Given the description of an element on the screen output the (x, y) to click on. 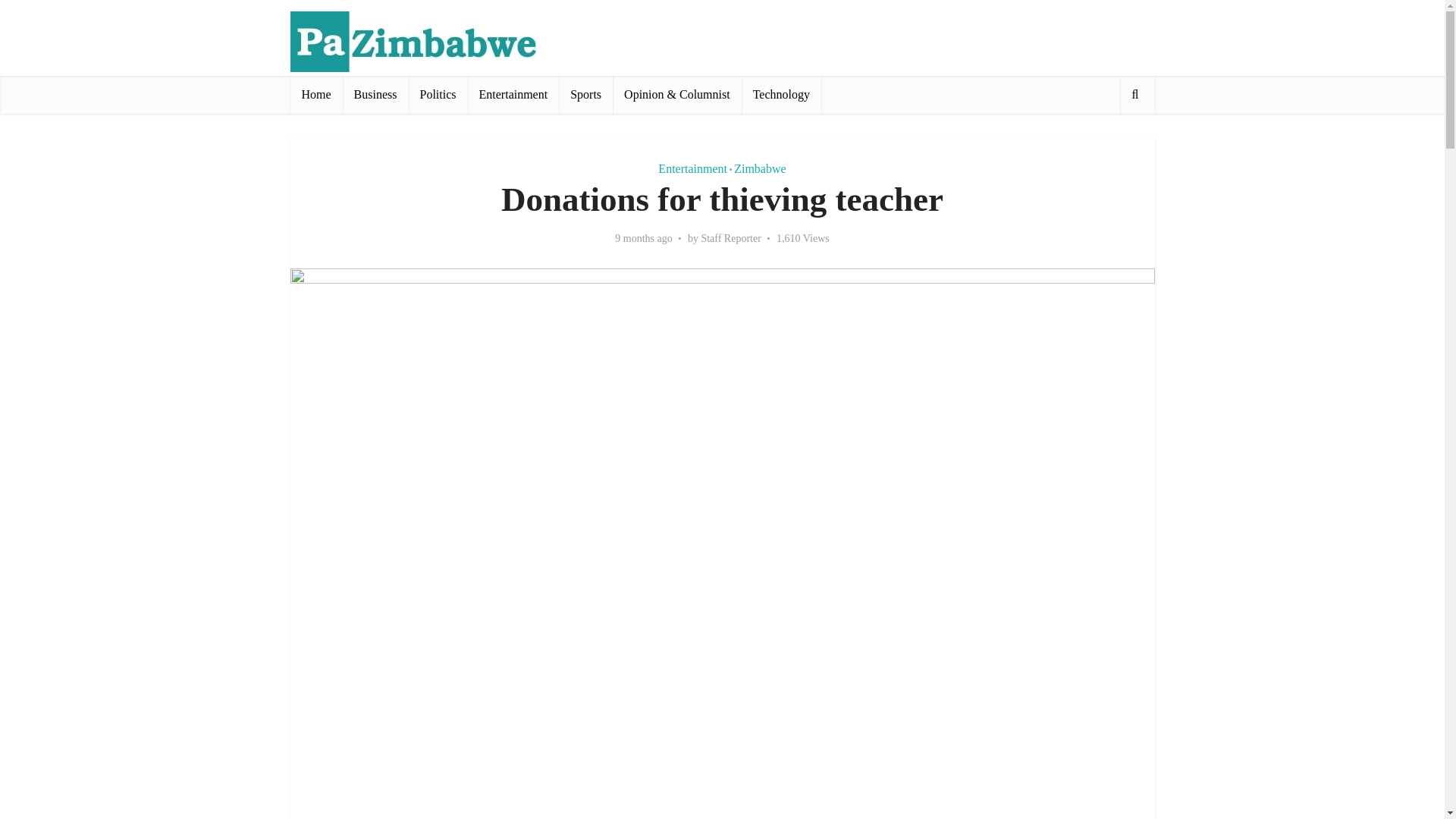
Politics (438, 94)
Business (375, 94)
Home (315, 94)
Technology (781, 94)
Staff Reporter (730, 238)
Entertainment (692, 168)
Entertainment (513, 94)
Zimbabwe (759, 168)
Sports (585, 94)
